Given the description of an element on the screen output the (x, y) to click on. 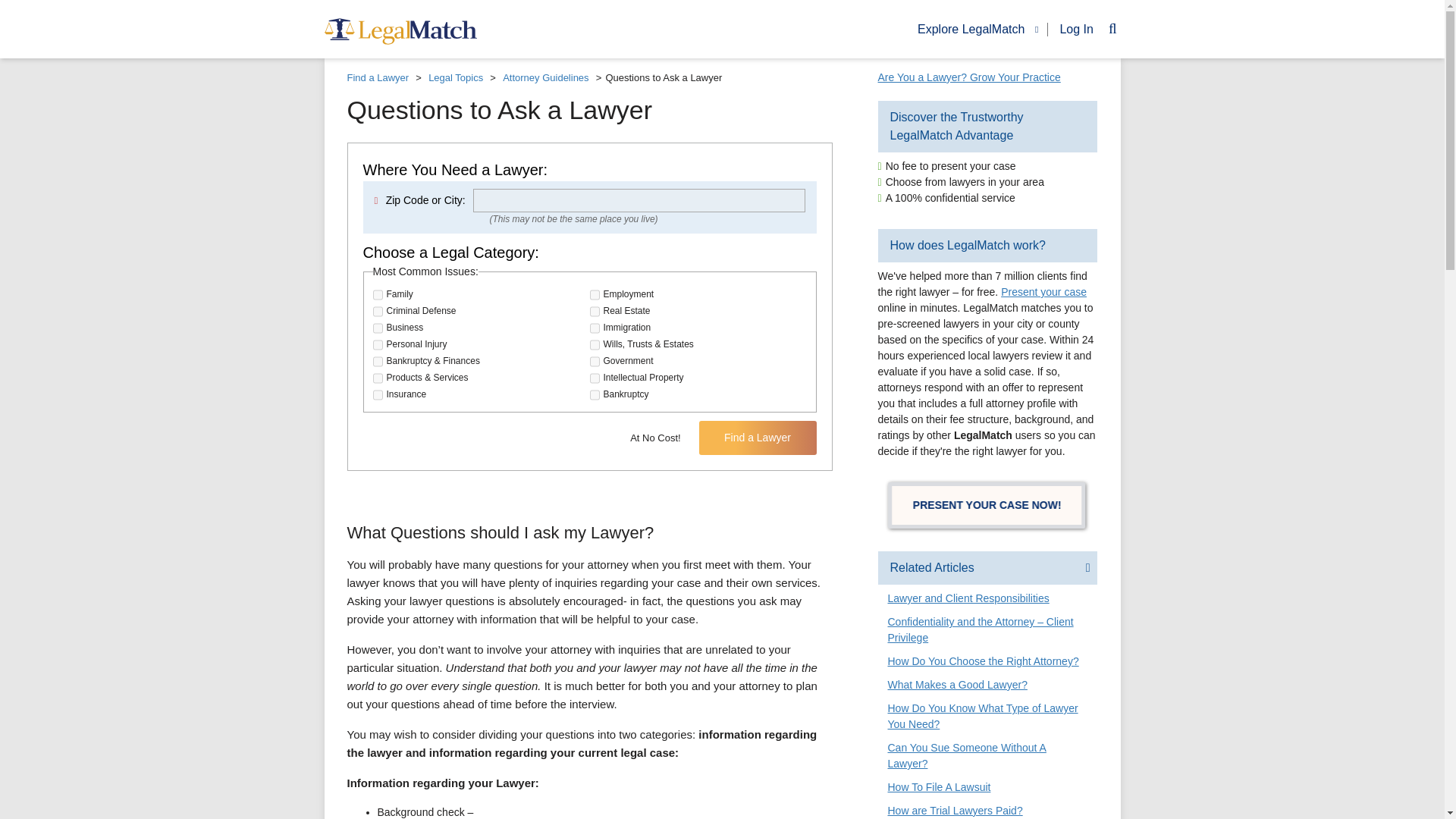
Find a Lawyer (757, 437)
Log In (1070, 29)
